Given the description of an element on the screen output the (x, y) to click on. 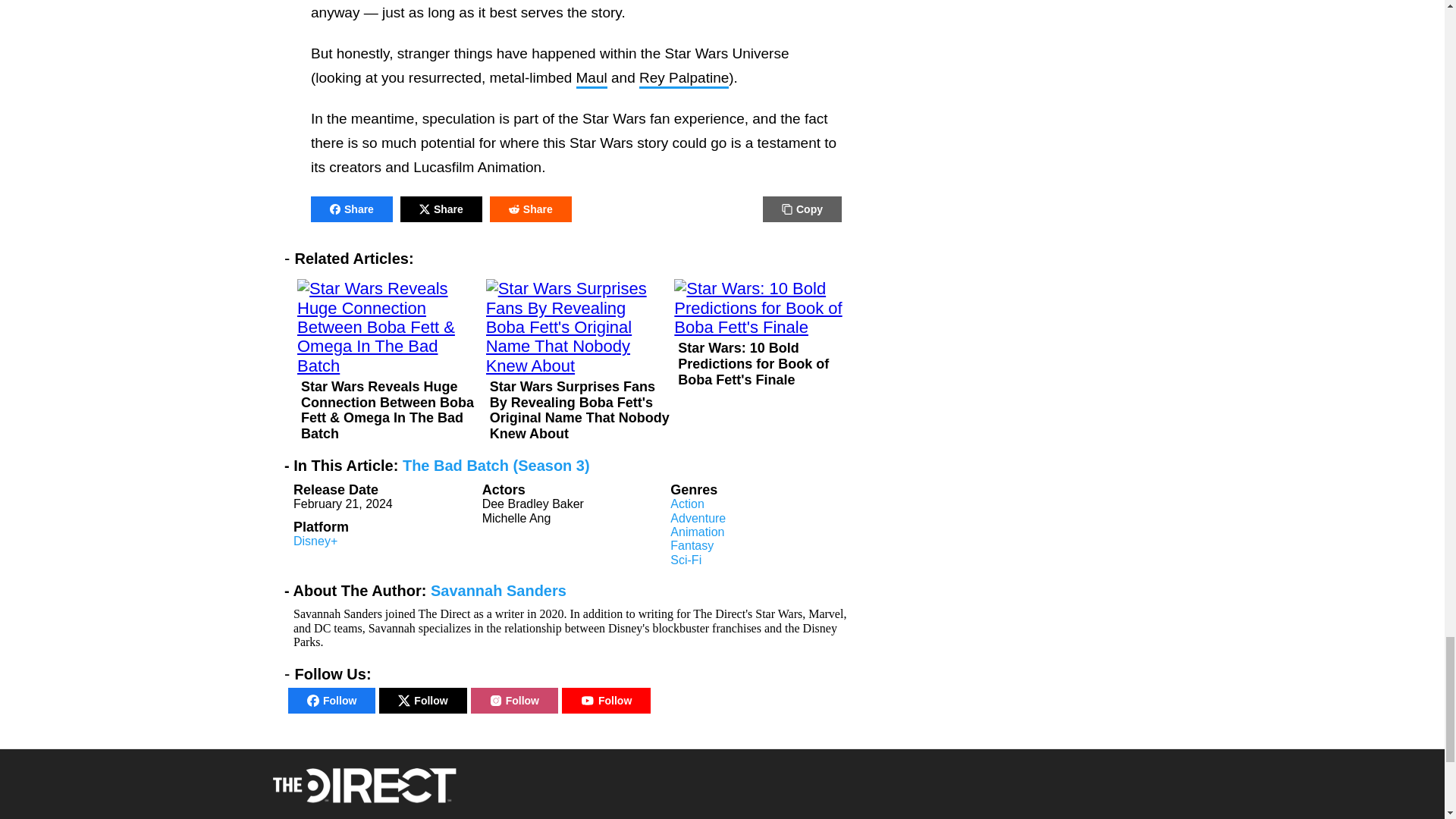
Share on Reddit (530, 208)
